Given the description of an element on the screen output the (x, y) to click on. 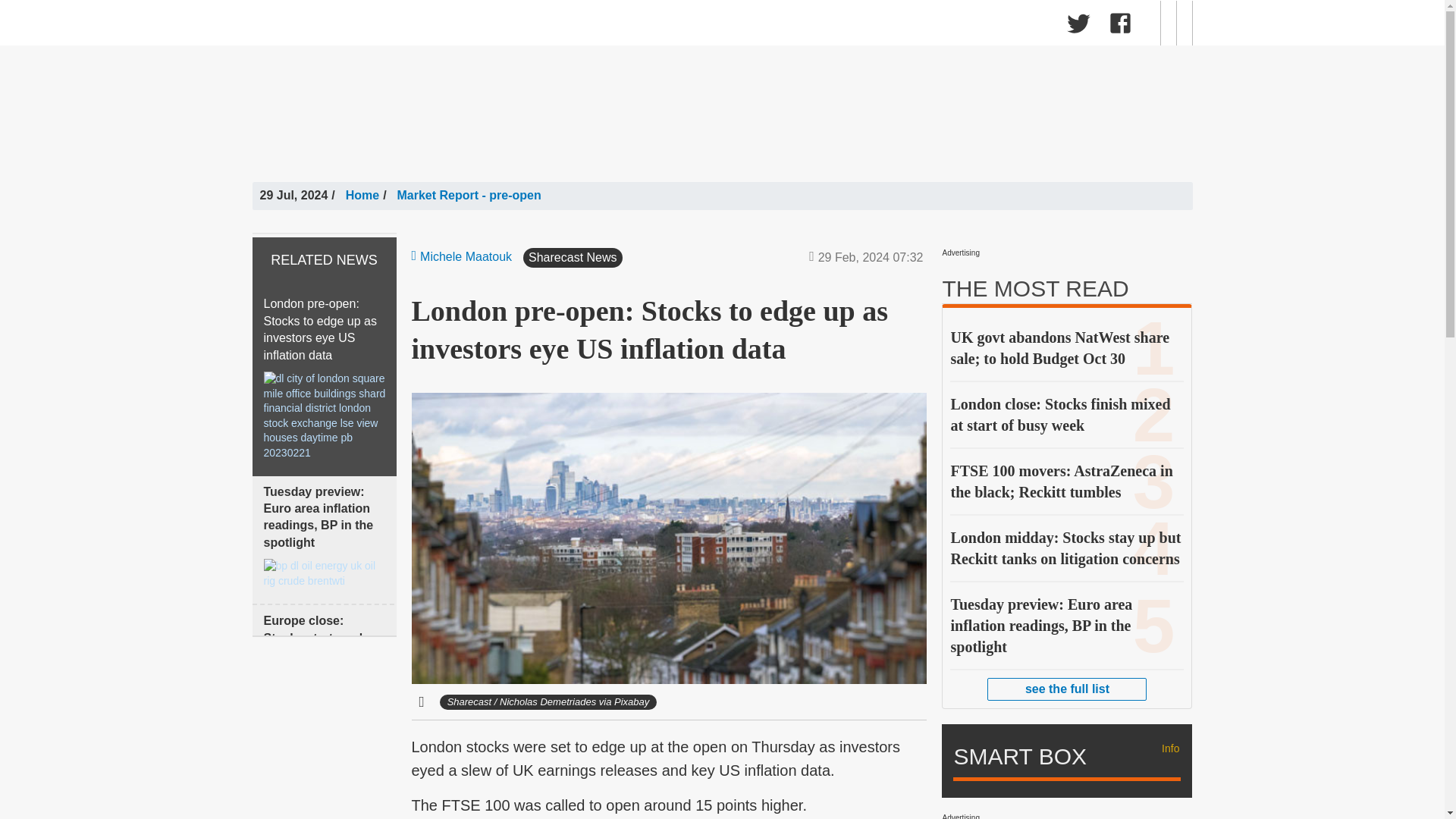
Sharecast (486, 22)
bp dl oil energy uk oil rig crude brentwti (325, 573)
ecb dl 3 euro bonds frankfurt germany economy (325, 692)
Market Data (404, 26)
Cryptocurrencies (633, 26)
UK Shares (315, 26)
Sharecast News (511, 26)
Active Trader (744, 26)
